Given the description of an element on the screen output the (x, y) to click on. 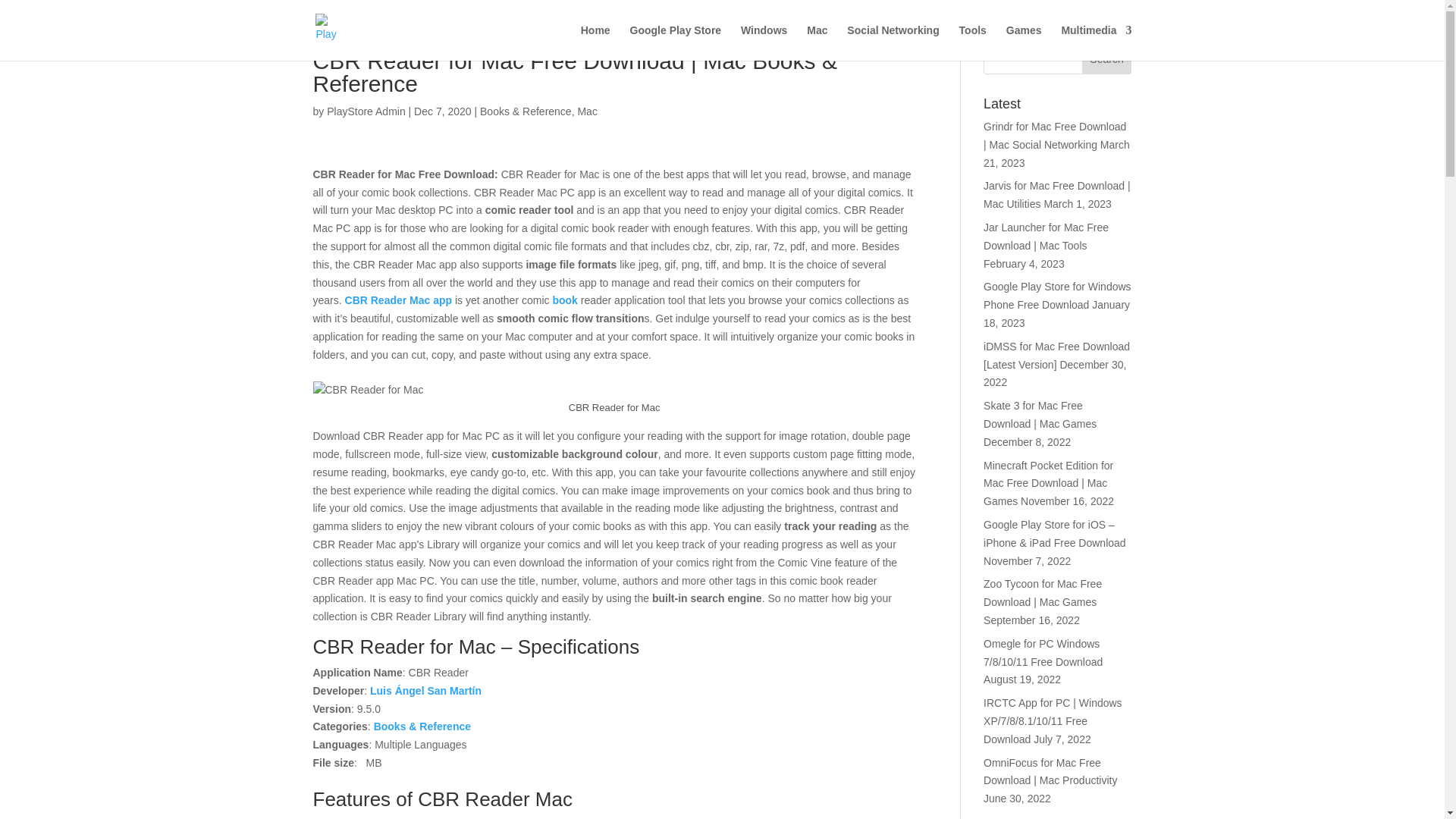
Search (1106, 59)
Google Play Store for Windows Phone Free Download (1057, 295)
Social Networking (893, 42)
Mac (586, 111)
CBR Reader Mac app (398, 300)
PlayStore Admin (366, 111)
Posts by PlayStore Admin (366, 111)
Multimedia (1096, 42)
Search (1106, 59)
book (563, 300)
Google Play Store (676, 42)
Windows (764, 42)
Games (1024, 42)
